Given the description of an element on the screen output the (x, y) to click on. 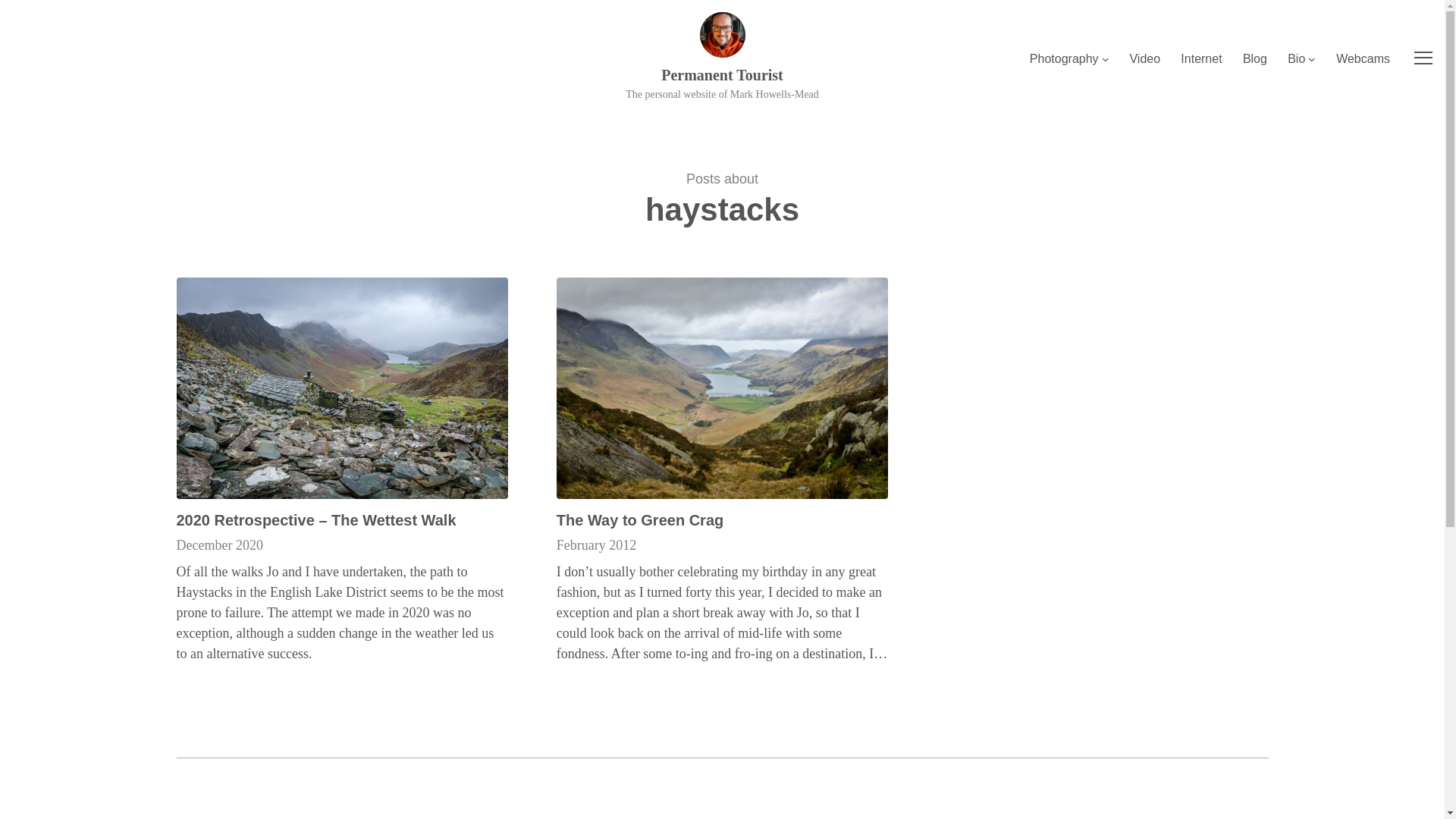
Blog (1254, 58)
Internet (1200, 58)
Permanent Tourist (722, 74)
Photography (1064, 58)
Video (1144, 58)
Bio (1295, 58)
The Way to Green Crag (639, 520)
Webcams (1363, 58)
Article: The Way to Green Crag (722, 387)
